Given the description of an element on the screen output the (x, y) to click on. 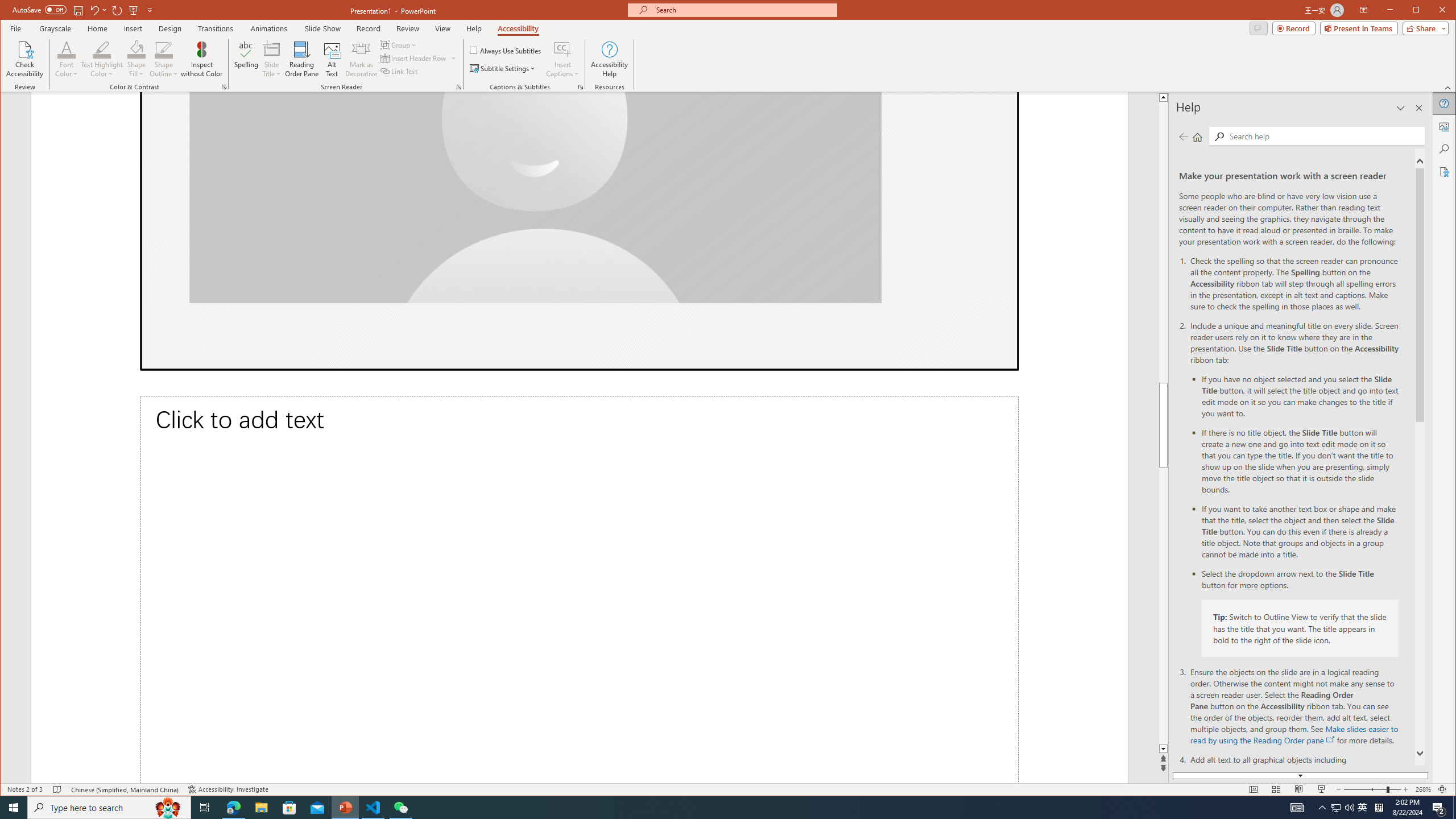
Insert Captions (562, 59)
Insert Header Row (413, 57)
